Given the description of an element on the screen output the (x, y) to click on. 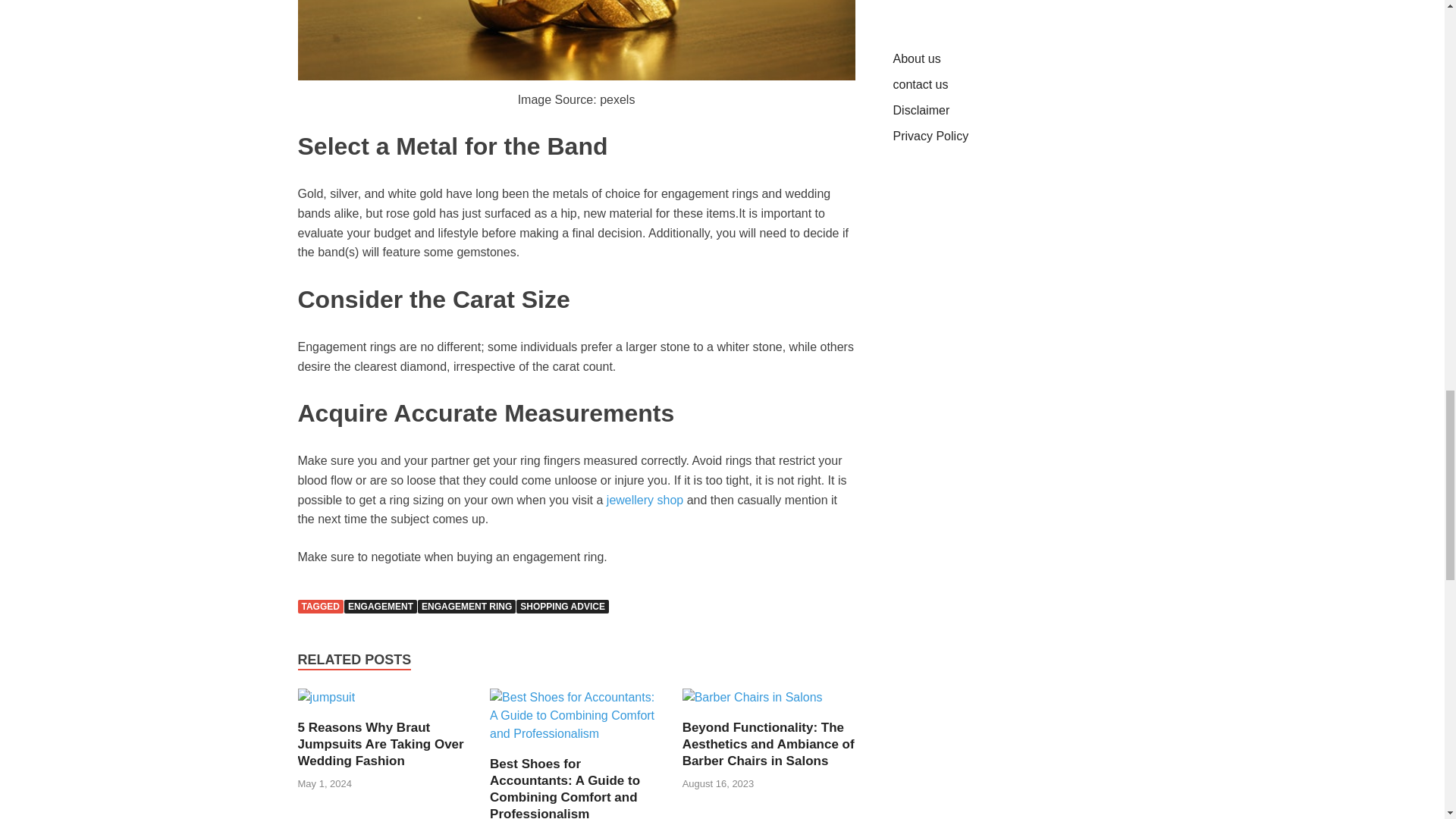
SHOPPING ADVICE (562, 606)
ENGAGEMENT (379, 606)
jewellery shop (644, 499)
